Given the description of an element on the screen output the (x, y) to click on. 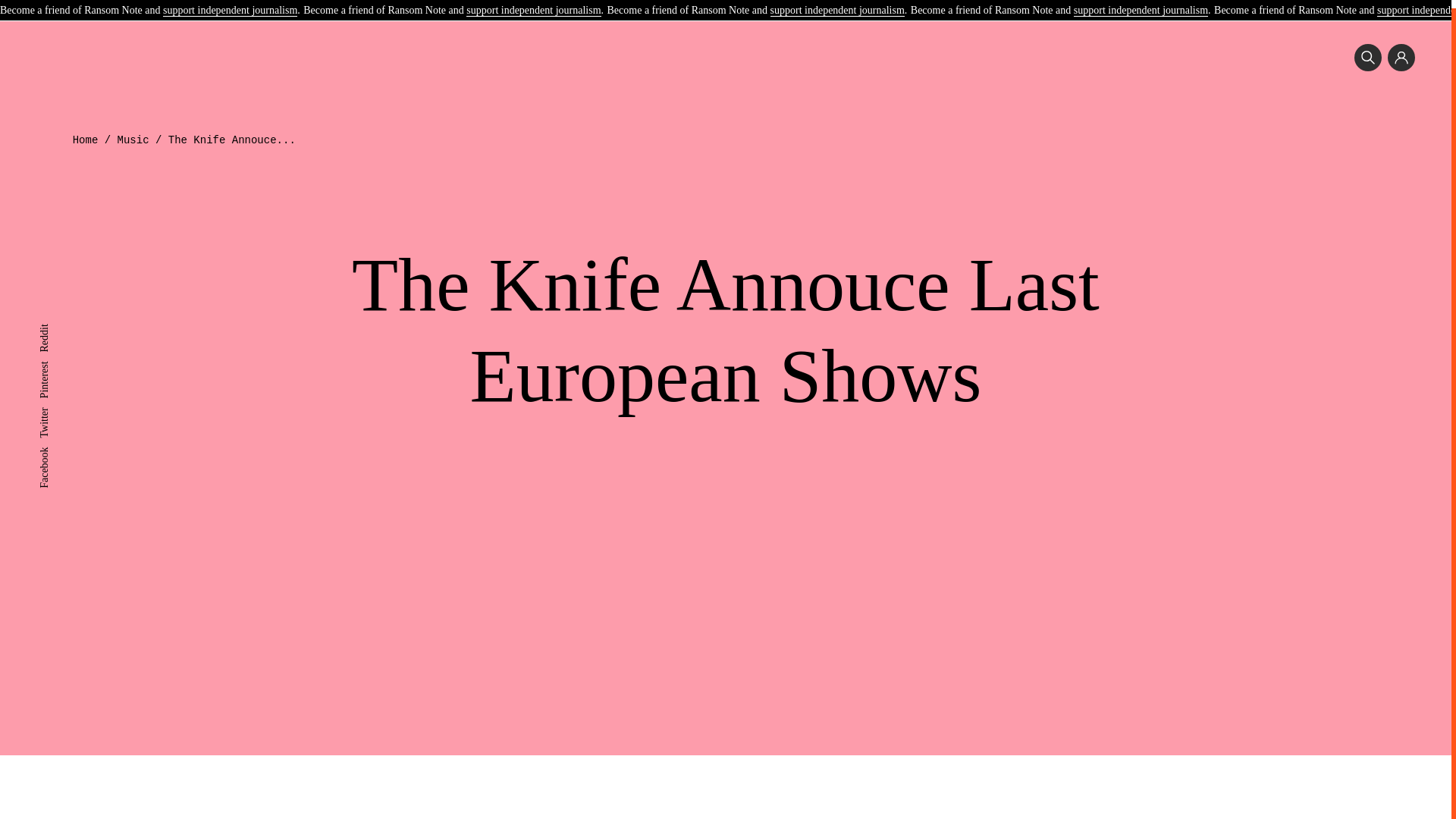
Pinterest (57, 358)
support independent journalism (230, 4)
Music (133, 140)
support independent journalism (837, 4)
Facebook (59, 444)
Reddit (52, 321)
Home (85, 140)
support independent journalism (532, 4)
Twitter (53, 404)
support independent journalism (1141, 4)
